Given the description of an element on the screen output the (x, y) to click on. 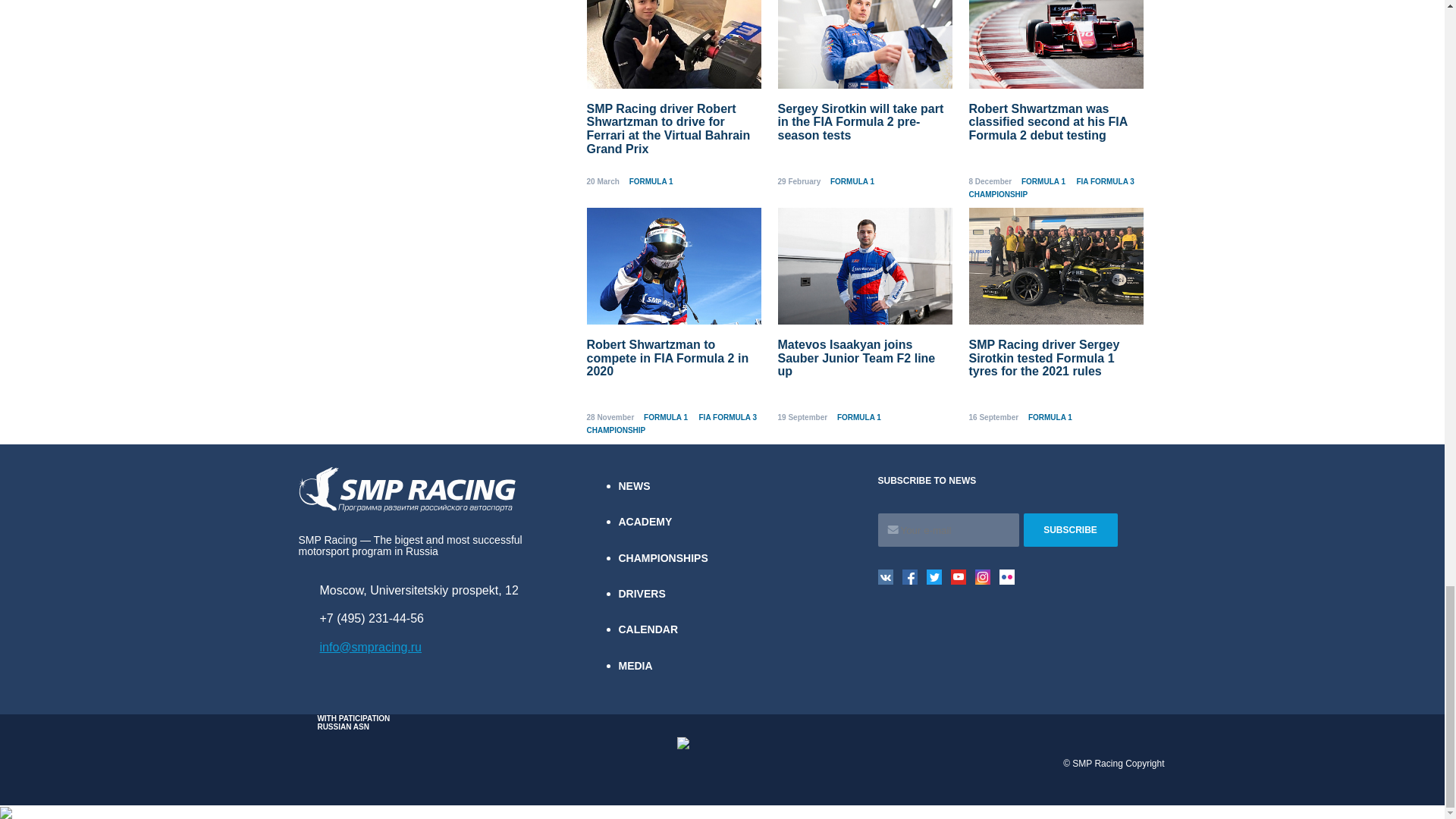
subscribe (1070, 530)
